Given the description of an element on the screen output the (x, y) to click on. 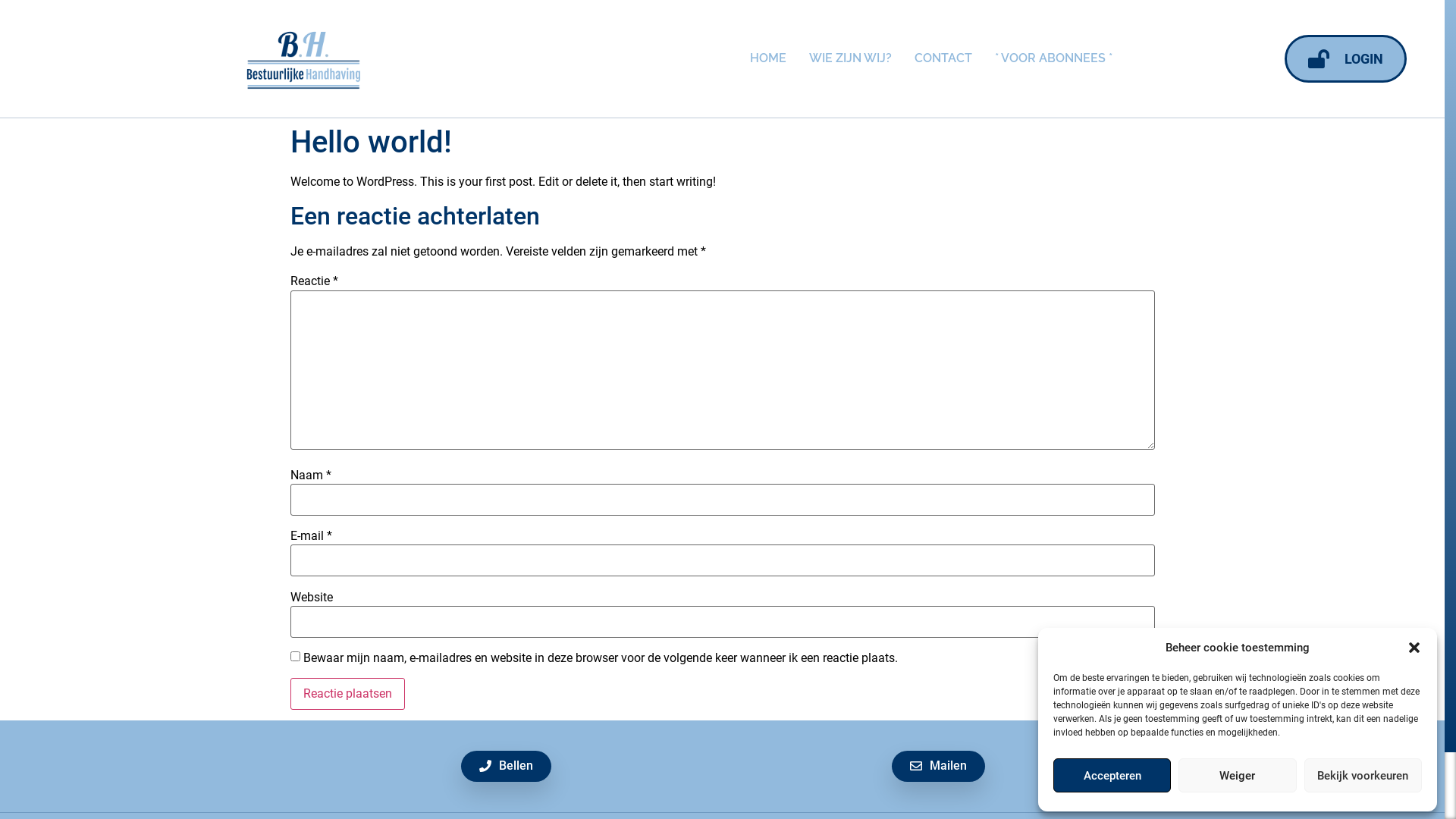
HOME Element type: text (767, 58)
* VOOR ABONNEES * Element type: text (1053, 58)
Accepteren Element type: text (1111, 775)
WIE ZIJN WIJ? Element type: text (850, 58)
Bellen Element type: text (506, 765)
Mailen Element type: text (938, 765)
Weiger Element type: text (1236, 775)
LOGIN Element type: text (1345, 58)
Bekijk voorkeuren Element type: text (1362, 775)
CONTACT Element type: text (943, 58)
Reactie plaatsen Element type: text (346, 693)
